Given the description of an element on the screen output the (x, y) to click on. 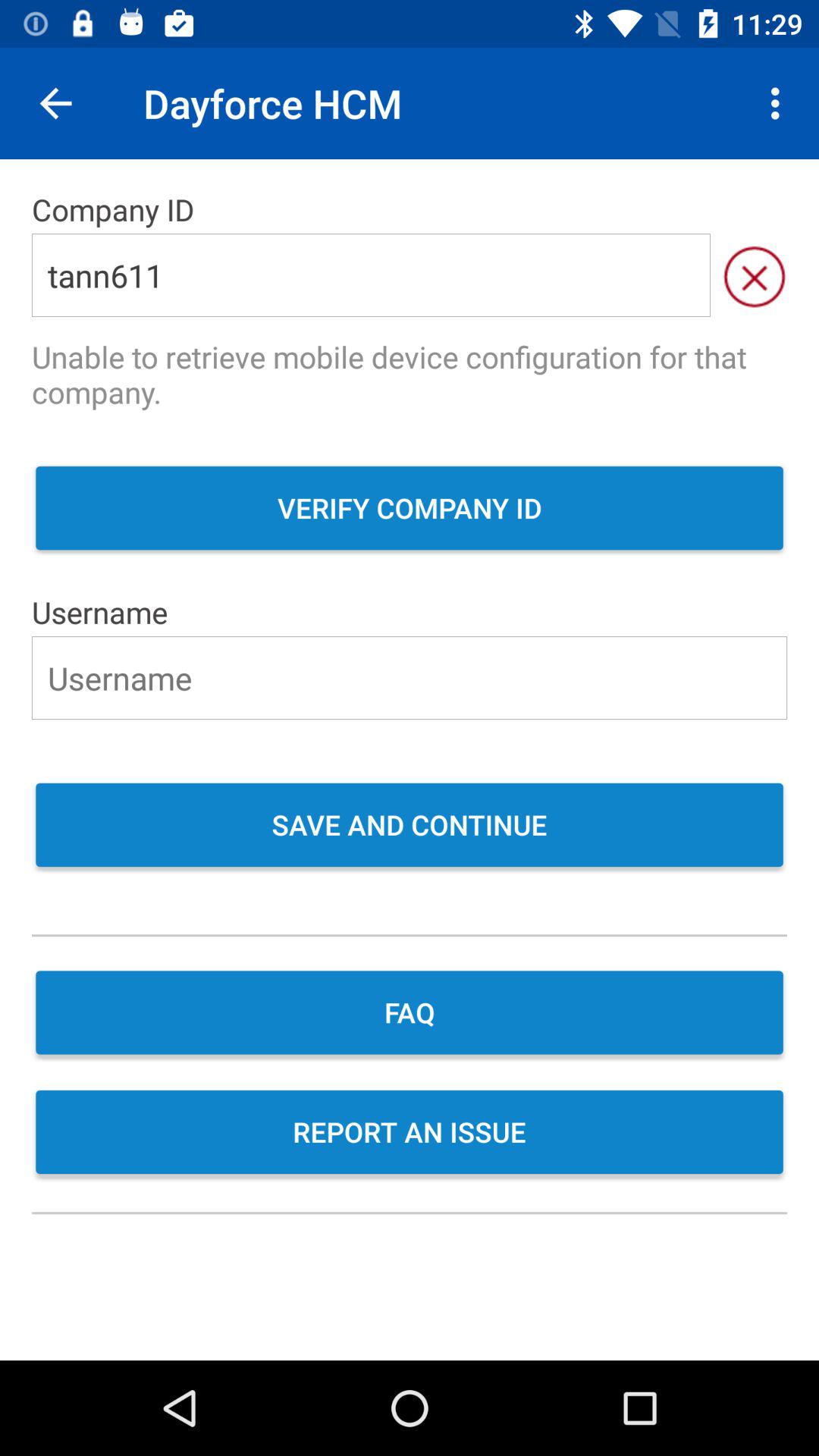
type username (409, 677)
